Given the description of an element on the screen output the (x, y) to click on. 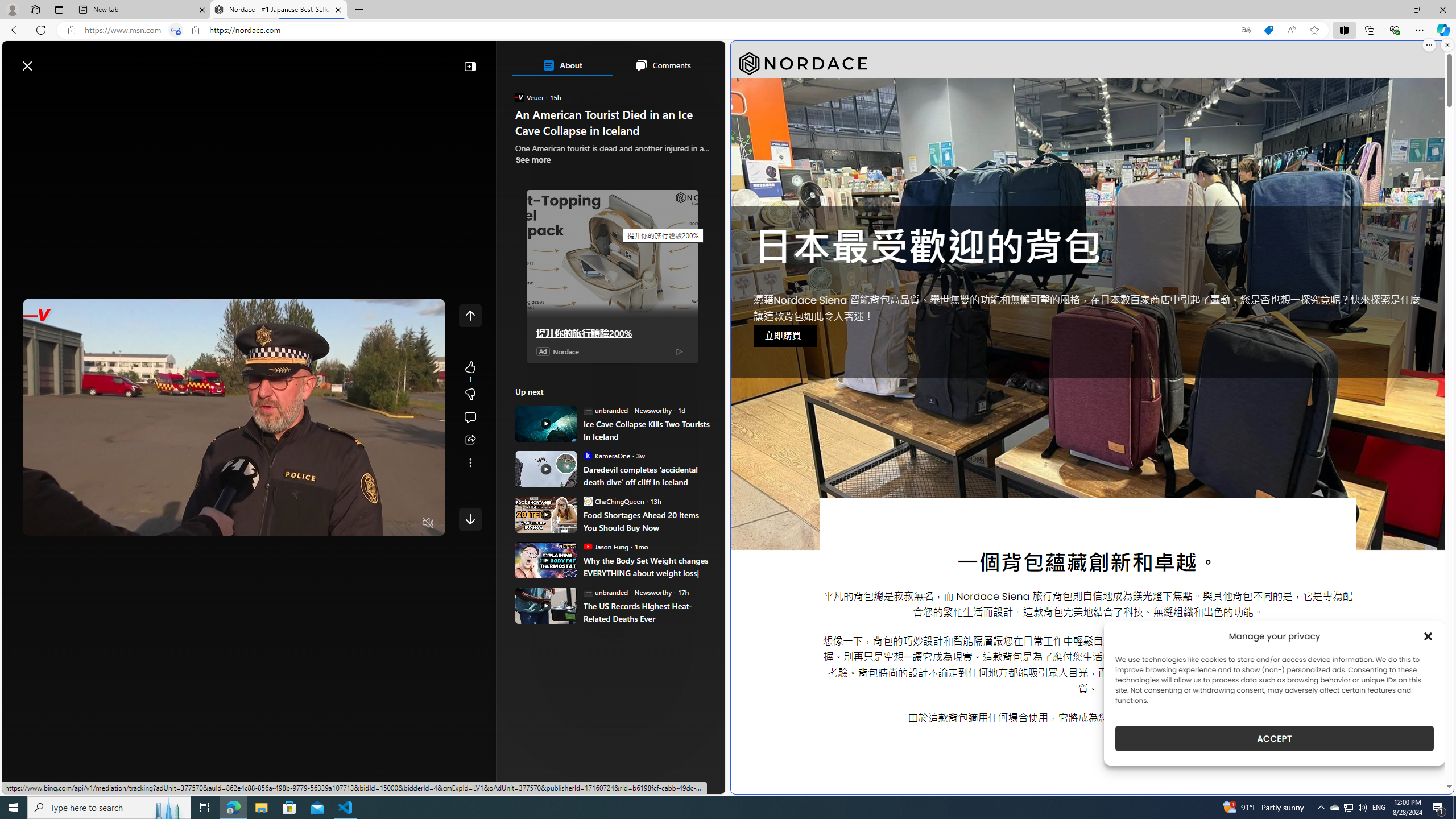
Dislike (469, 394)
Settings and more (Alt+F) (1419, 29)
Jason Fung Jason Fung (605, 546)
unbranded - Newsworthy (587, 591)
New Tab (358, 9)
App bar (728, 29)
About (561, 64)
Class: control (469, 518)
Microsoft Start (53, 60)
unbranded - Newsworthy unbranded - Newsworthy (626, 591)
Copilot (Ctrl+Shift+.) (1442, 29)
Browser essentials (1394, 29)
